Given the description of an element on the screen output the (x, y) to click on. 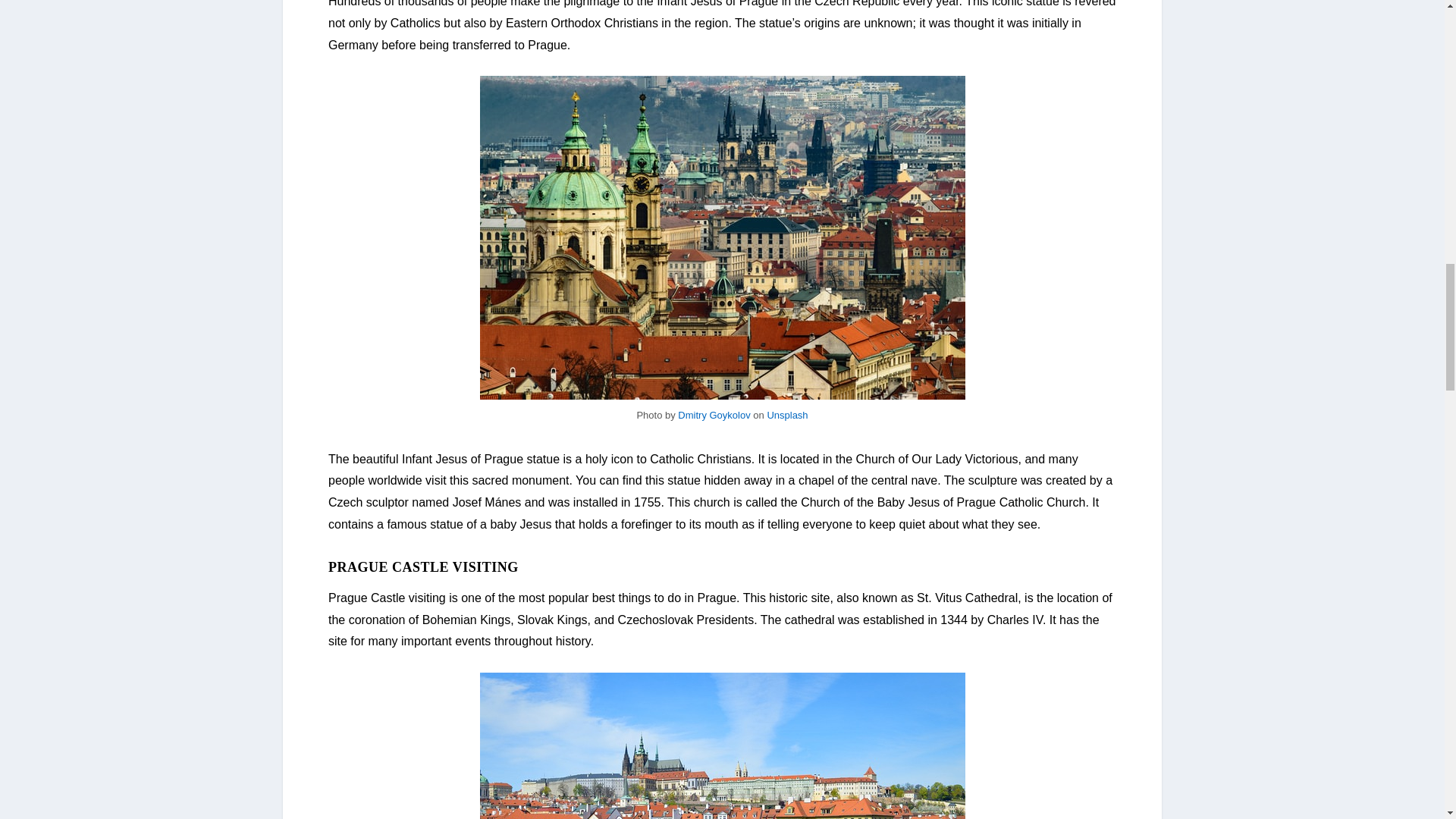
Unsplash (787, 414)
Dmitry Goykolov (713, 414)
